Given the description of an element on the screen output the (x, y) to click on. 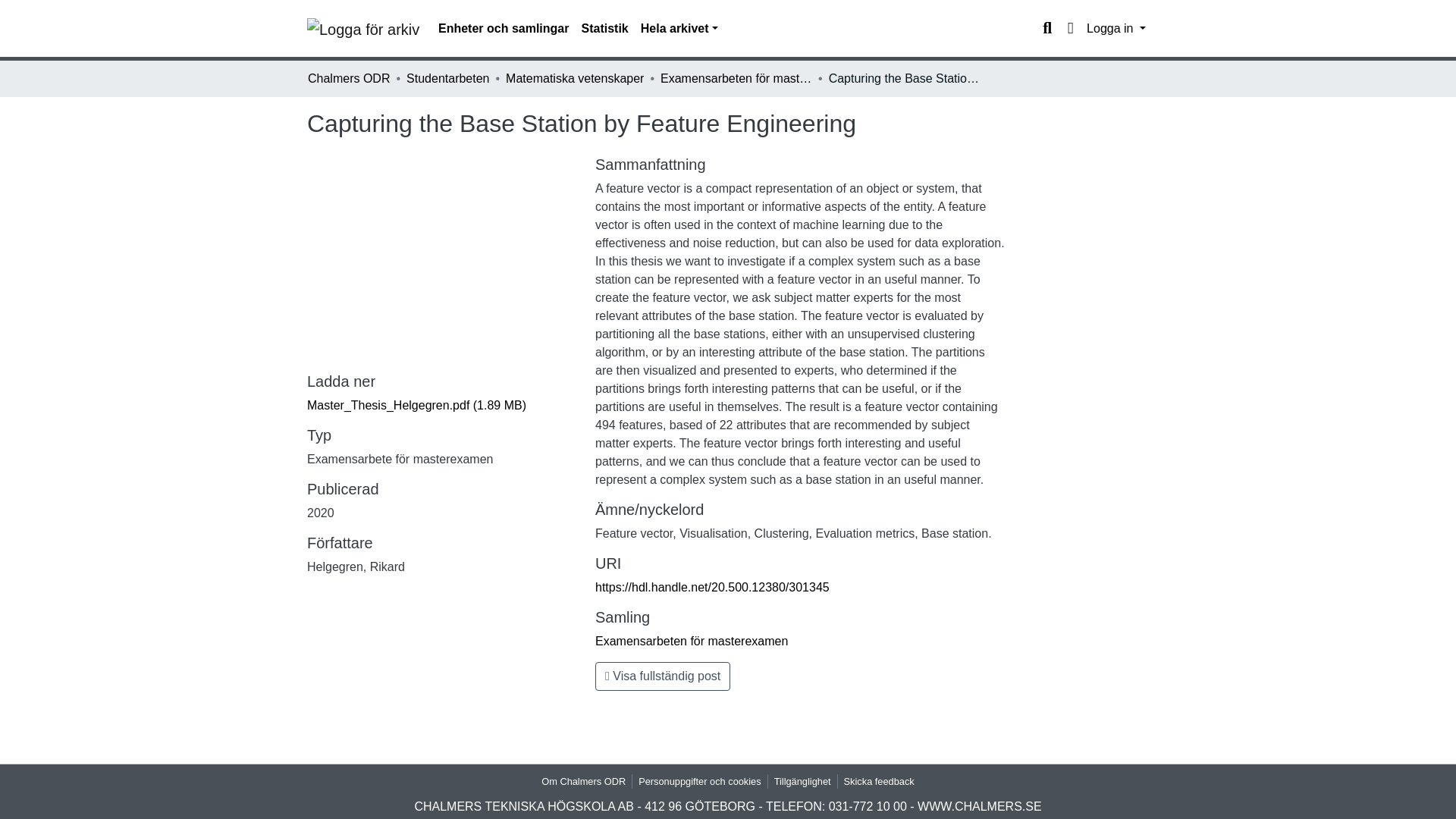
Statistik (604, 28)
Om Chalmers ODR (583, 780)
Matematiska vetenskaper (574, 78)
Studentarbeten (447, 78)
Chalmers ODR (348, 78)
Enheter och samlingar (503, 28)
Logga in (1115, 28)
WWW.CHALMERS.SE (979, 806)
Enheter och samlingar (503, 28)
Personuppgifter och cookies (699, 780)
